Given the description of an element on the screen output the (x, y) to click on. 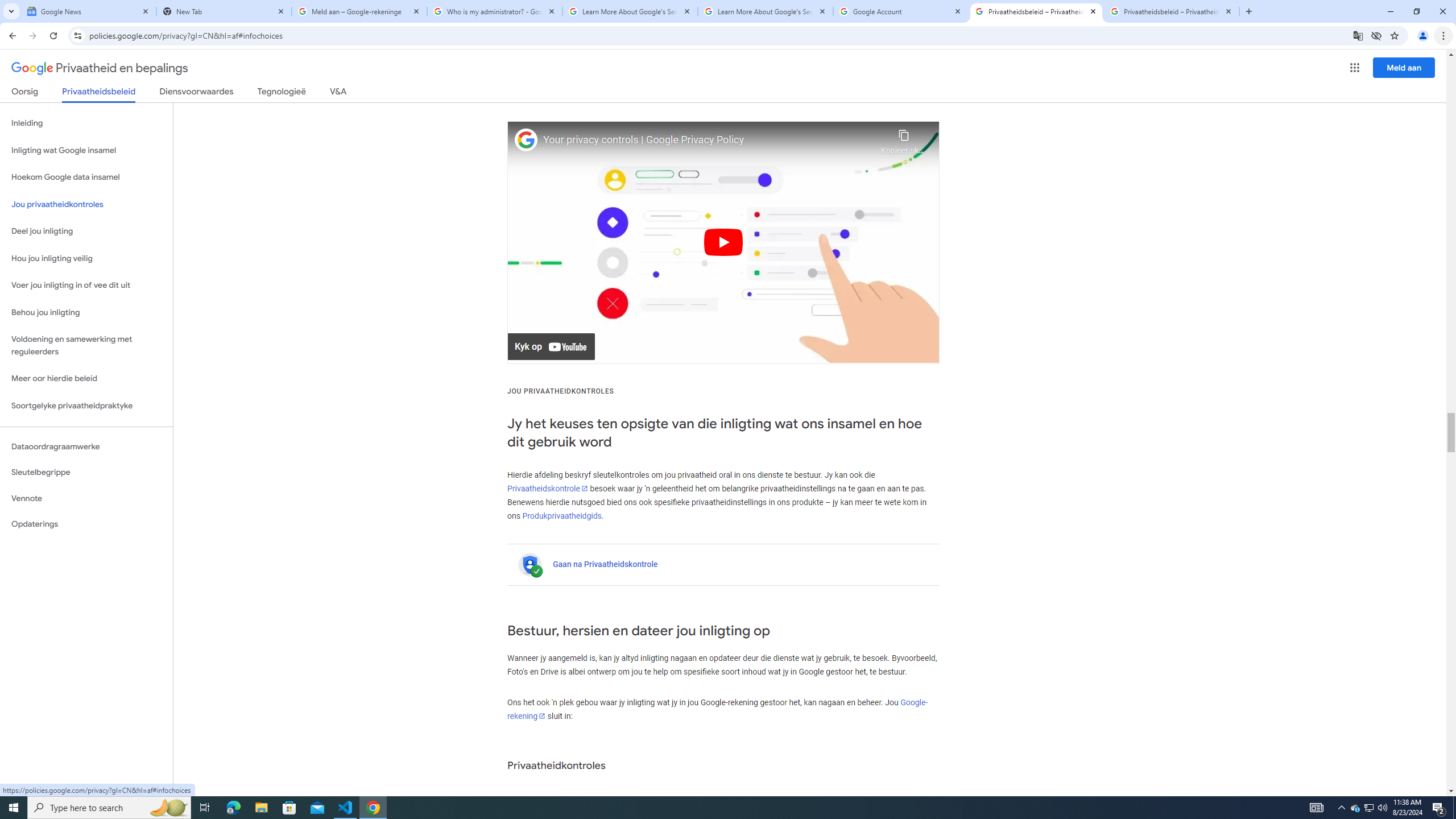
Kyk op YouTube (551, 346)
Who is my administrator? - Google Account Help (494, 11)
Meer oor hierdie beleid (86, 379)
Diensvoorwaardes (196, 93)
Voldoening en samewerking met reguleerders (86, 345)
Your privacy controls | Google Privacy Policy (709, 140)
Dataoordragraamwerke (86, 446)
Privaatheid en bepalings (99, 68)
Privaatheidsbeleid (98, 94)
